Given the description of an element on the screen output the (x, y) to click on. 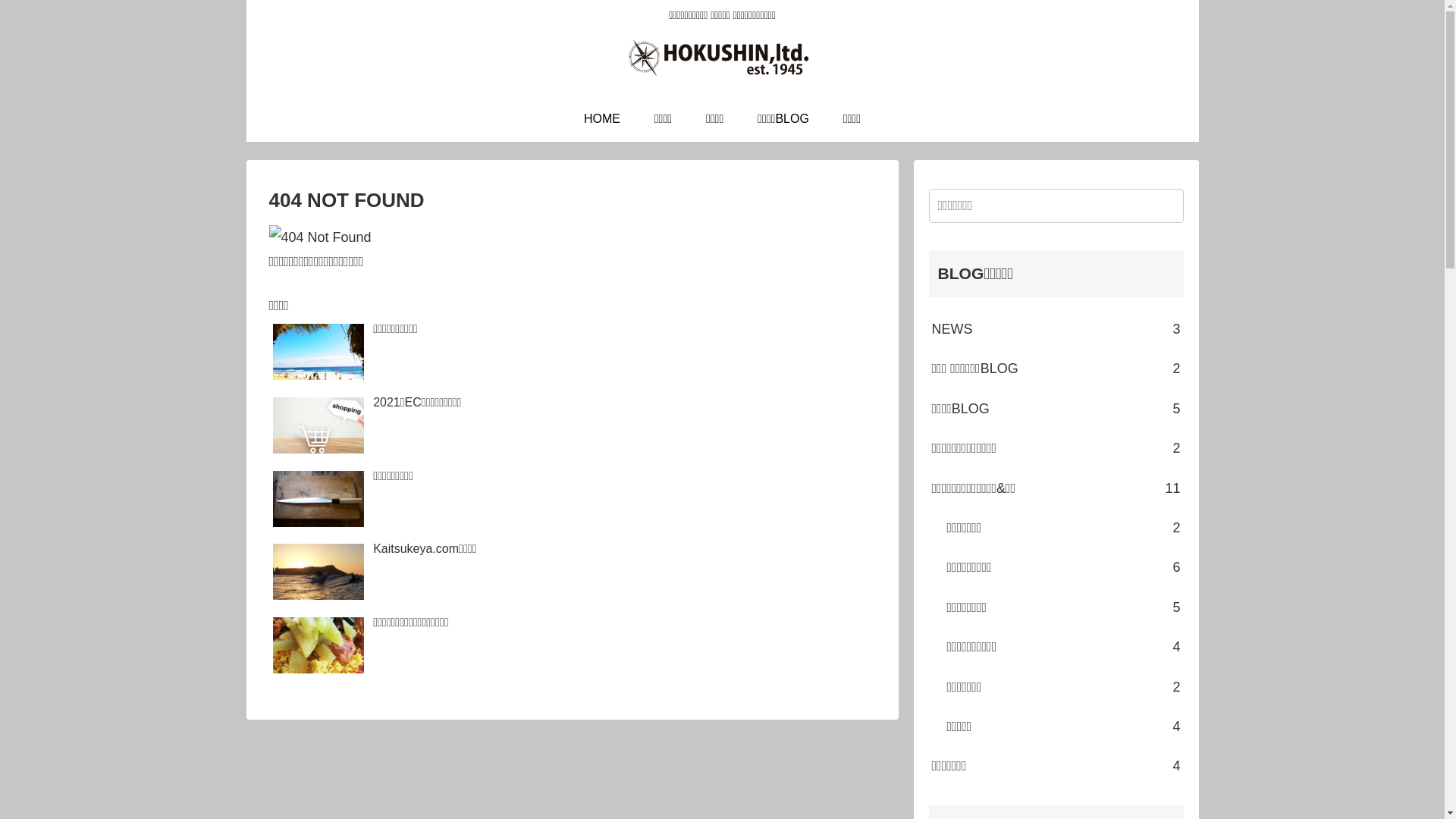
Please Wait
While We Get You Back On Track...
0 Element type: text (727, 466)
